Given the description of an element on the screen output the (x, y) to click on. 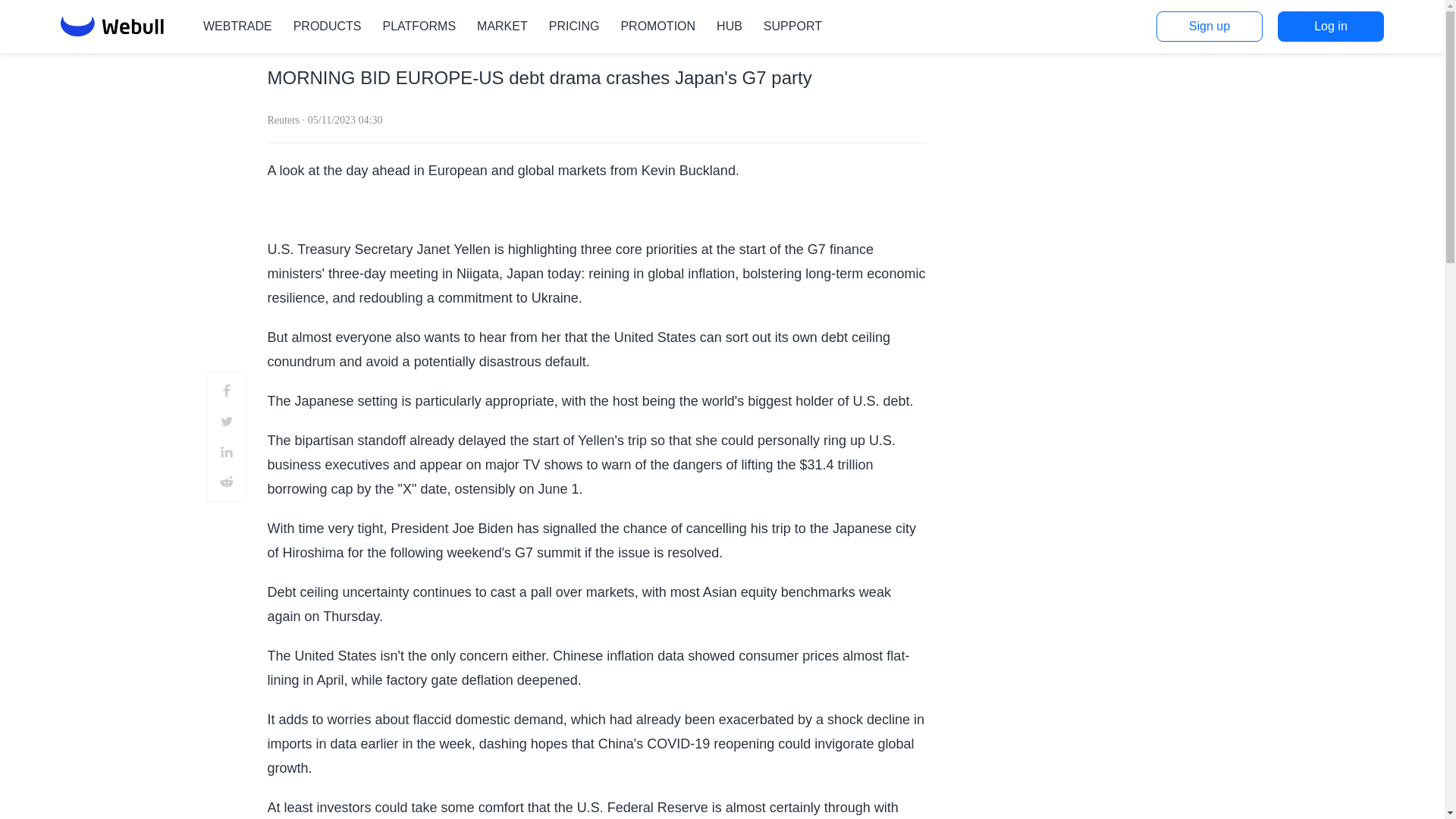
SUPPORT (792, 25)
Log in (1331, 26)
PRODUCTS (327, 25)
Sign up (1209, 26)
PRICING (573, 25)
PLATFORMS (418, 25)
MARKET (502, 25)
PROMOTION (657, 25)
WEBTRADE (237, 25)
HUB (729, 25)
